Given the description of an element on the screen output the (x, y) to click on. 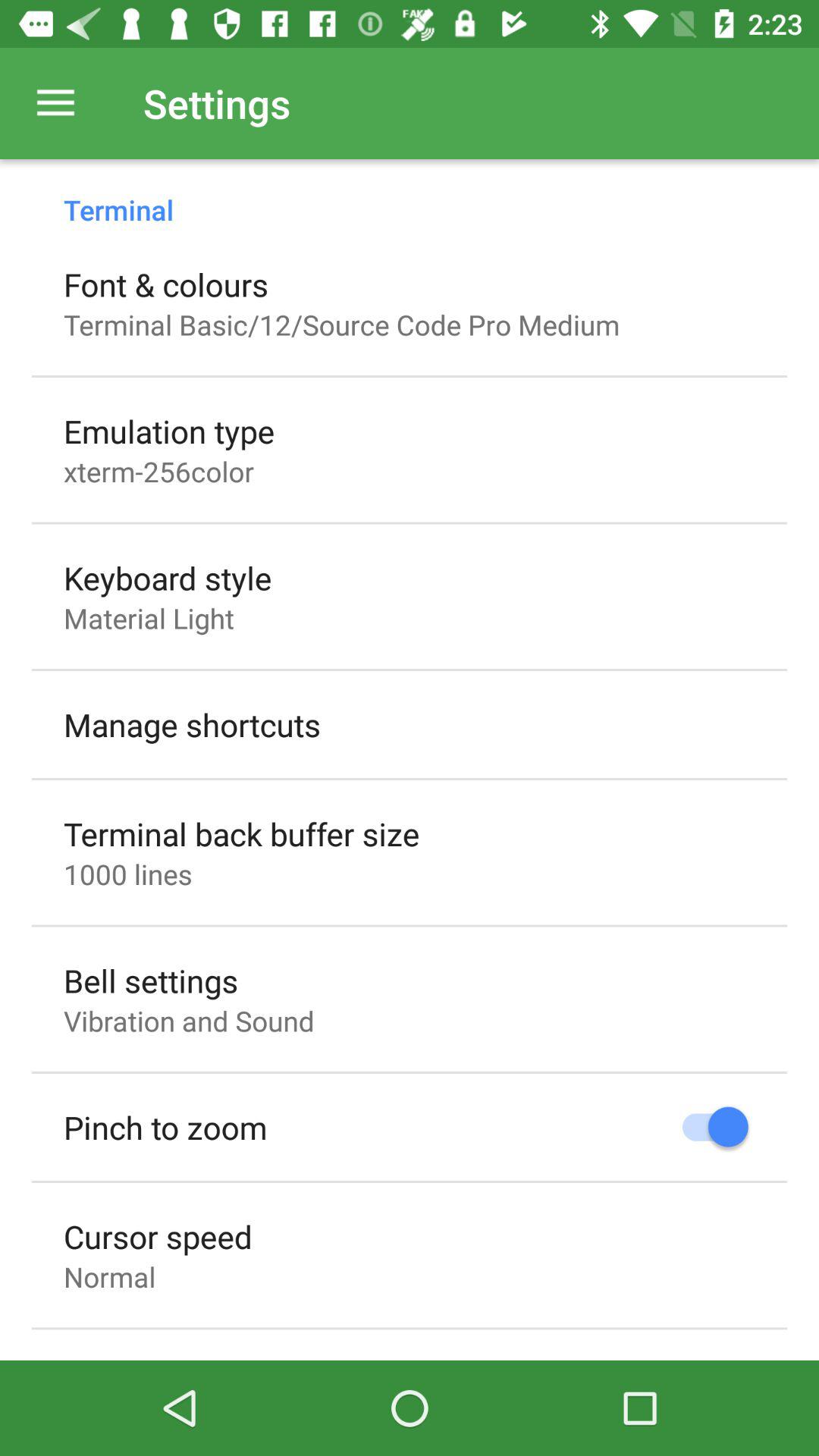
open item below the font & colours (341, 324)
